Given the description of an element on the screen output the (x, y) to click on. 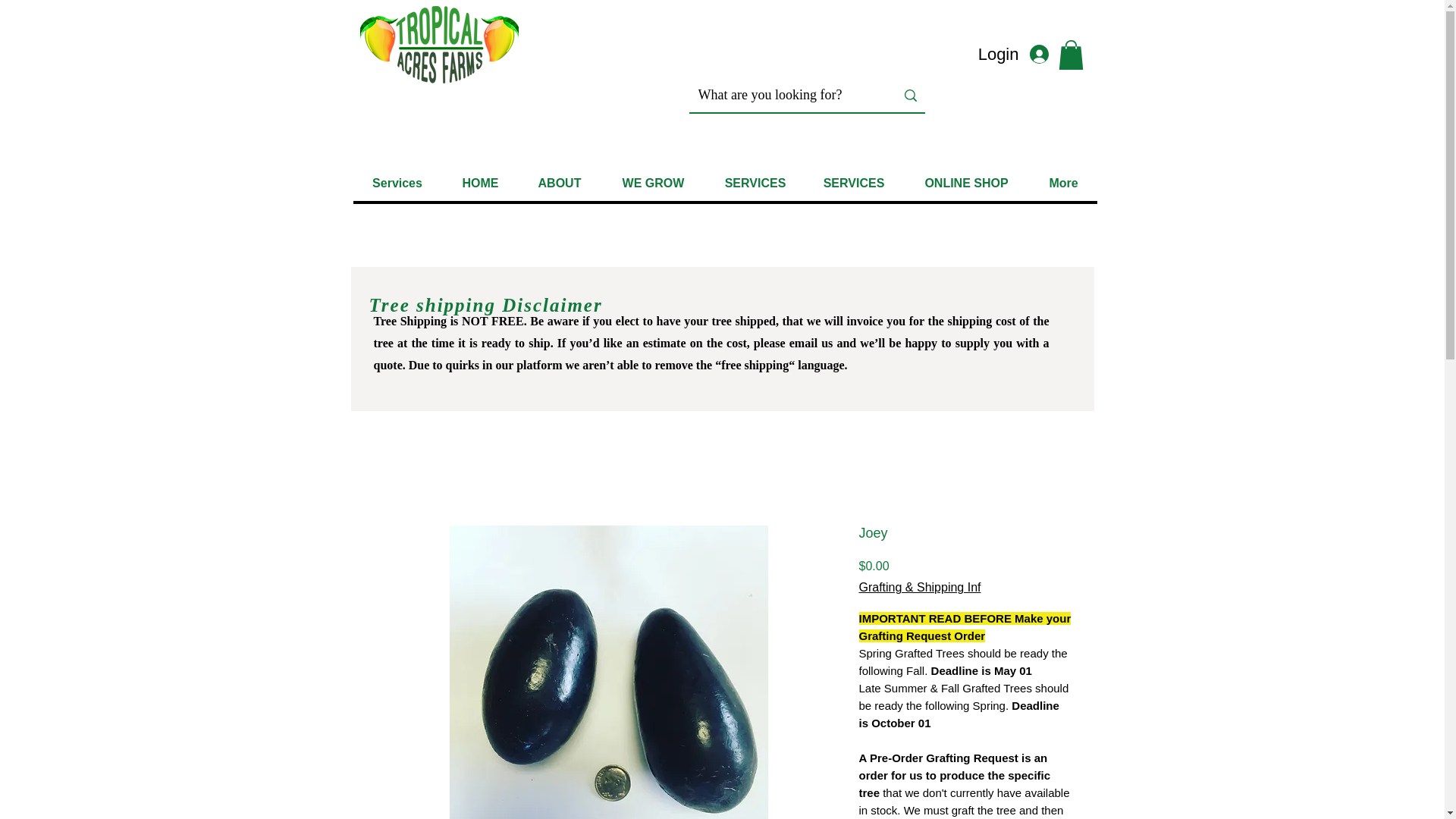
Login (1020, 54)
HOME (479, 182)
Services (397, 182)
ONLINE SHOP (965, 182)
ABOUT (558, 182)
SERVICES (753, 182)
